Given the description of an element on the screen output the (x, y) to click on. 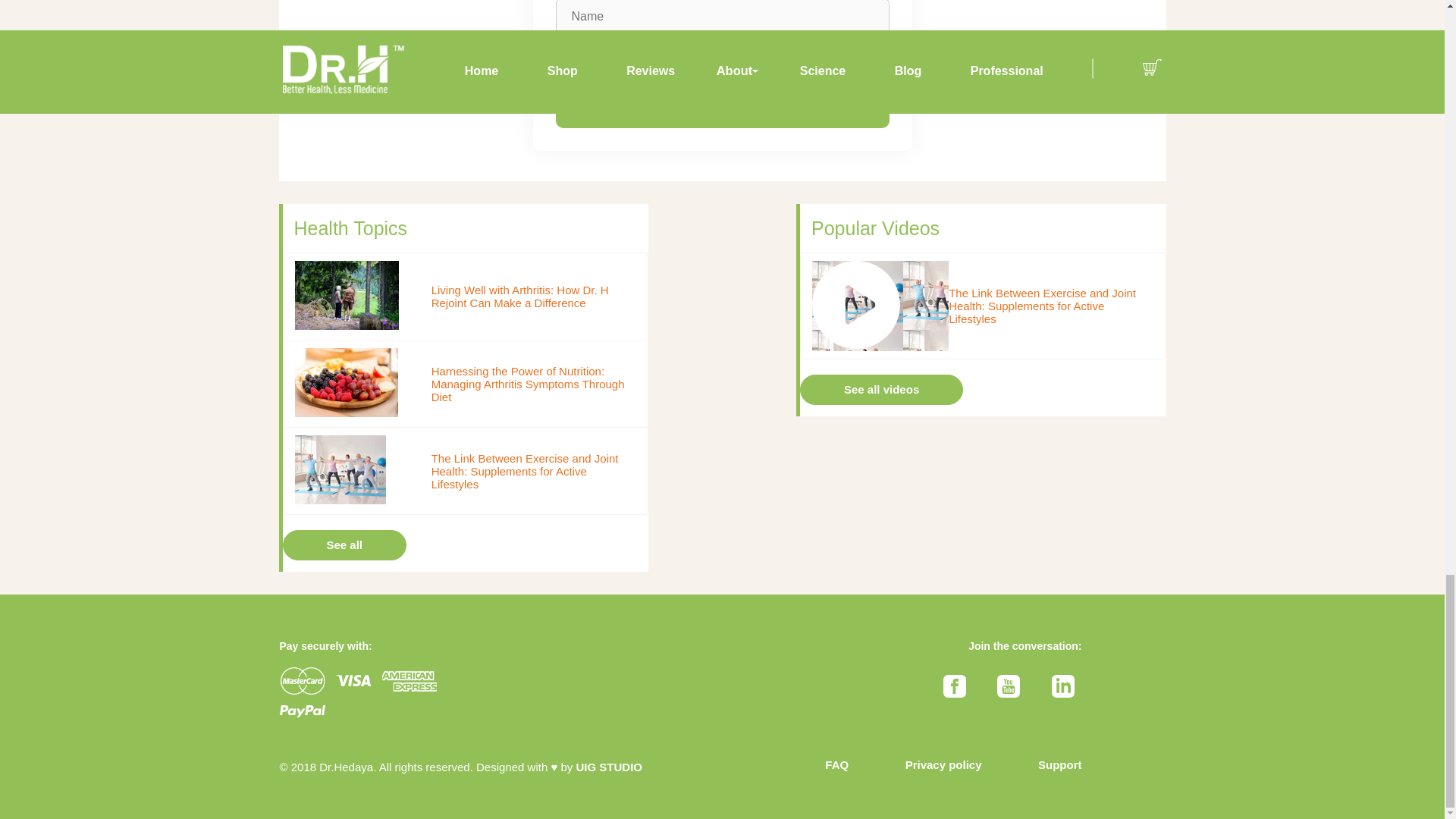
See all (344, 544)
Support (1059, 764)
UIG STUDIO (609, 766)
Privacy policy (943, 764)
Subscribe (721, 108)
FAQ (836, 764)
See all videos (880, 389)
Subscribe (721, 108)
